Given the description of an element on the screen output the (x, y) to click on. 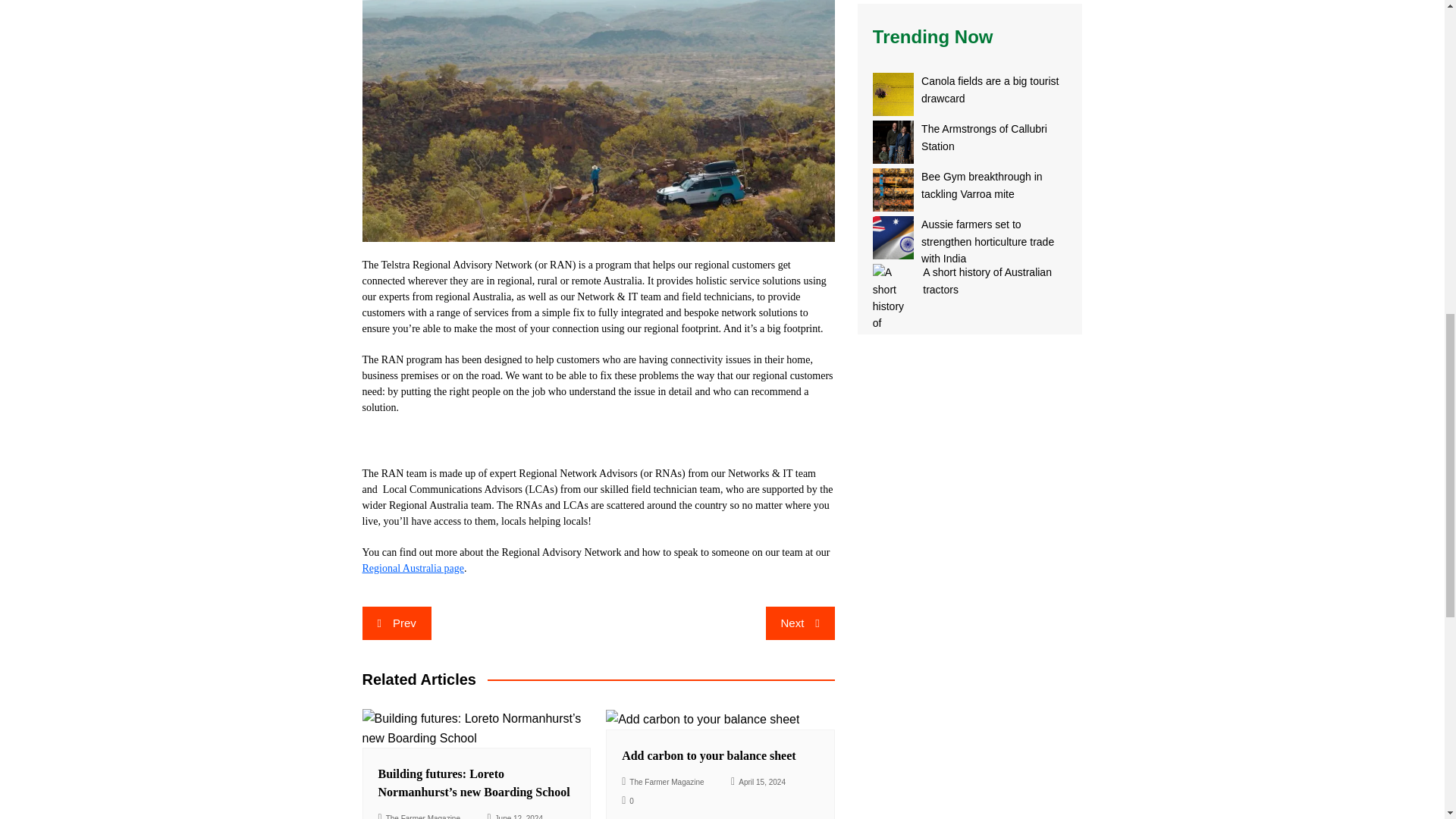
A short history of Australian tractors (893, 285)
June 12, 2024 (514, 814)
Canola fields are a  big tourist drawcard (893, 94)
Next (799, 622)
The Farmer Magazine (418, 814)
The Farmer Magazine (662, 781)
The Armstrongs of Callubri Station (893, 141)
Canola fields are a  big tourist drawcard (994, 94)
Add carbon to your balance sheet (708, 755)
